Given the description of an element on the screen output the (x, y) to click on. 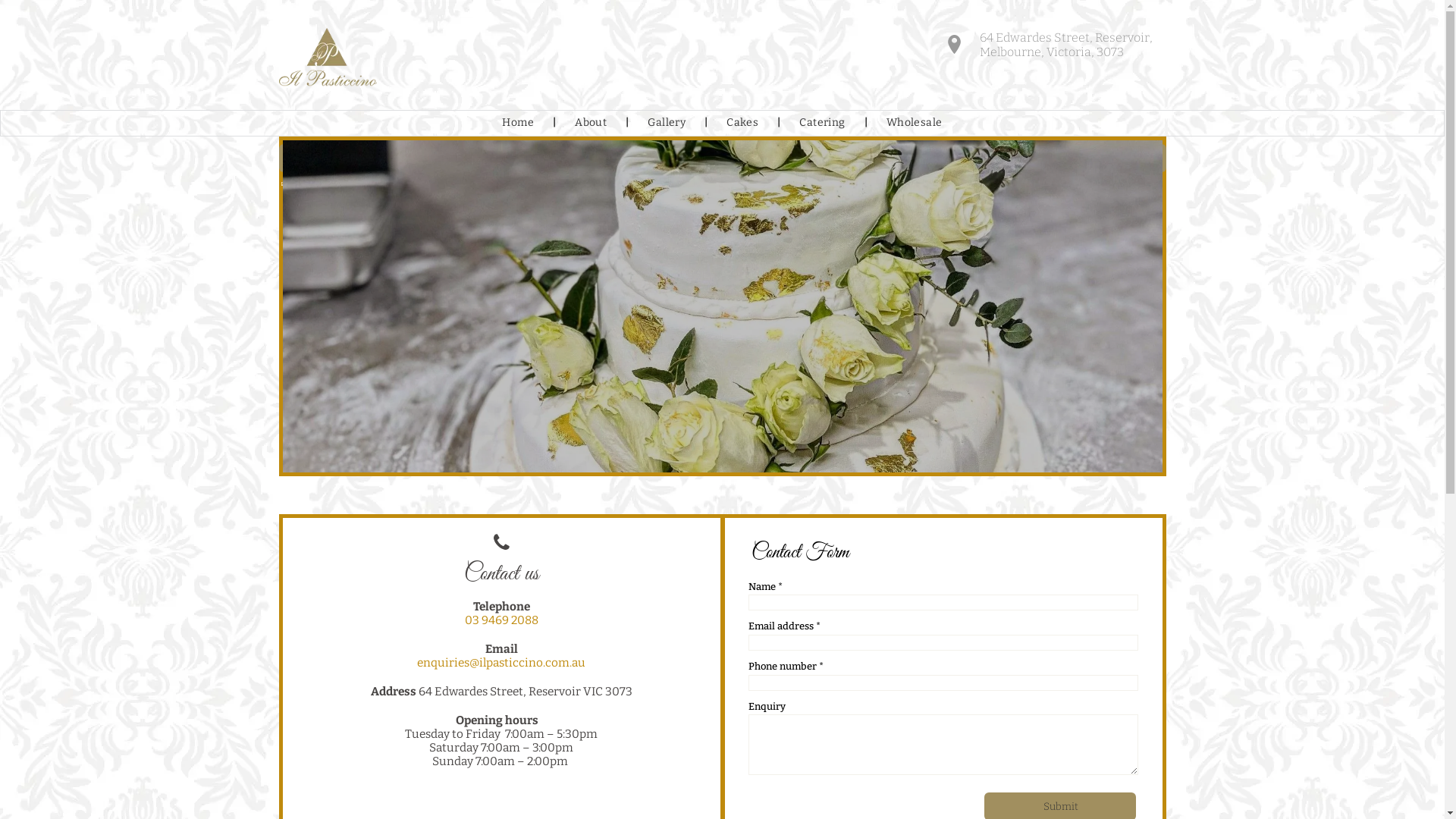
64 Edwardes Street, Reservoir, Melbourne, Victoria, 3073 Element type: text (1055, 44)
Home Element type: text (517, 122)
About Element type: text (590, 122)
Catering Element type: text (821, 122)
New Button Element type: text (722, 158)
Wholesale Element type: text (914, 122)
03 9469 2088 Element type: text (500, 620)
Gallery Element type: text (666, 122)
Cakes Element type: text (742, 122)
enquiries@ilpasticcino.com.au Element type: text (501, 662)
